Given the description of an element on the screen output the (x, y) to click on. 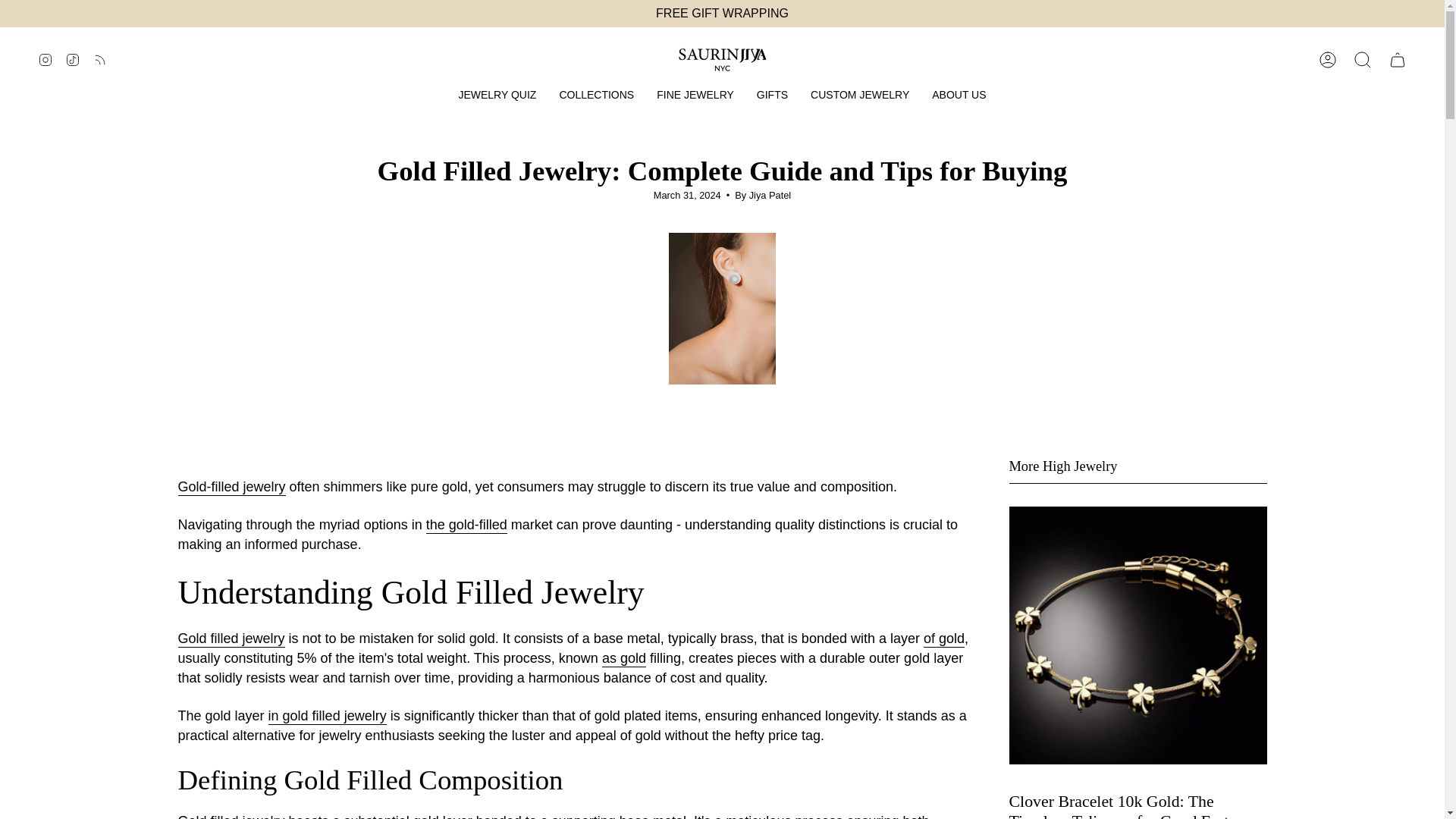
JEWELRY QUIZ (496, 94)
Account (1327, 59)
COLLECTIONS (596, 94)
Instagram (44, 58)
Saurin Jiya on TikTok (72, 58)
Cart (1397, 59)
TikTok (72, 58)
Search (1362, 59)
Feed (100, 58)
My Account (1327, 59)
Cart (1397, 59)
Saurin Jiya on Instagram (44, 58)
Saurin Jiya on Feed (100, 58)
